Given the description of an element on the screen output the (x, y) to click on. 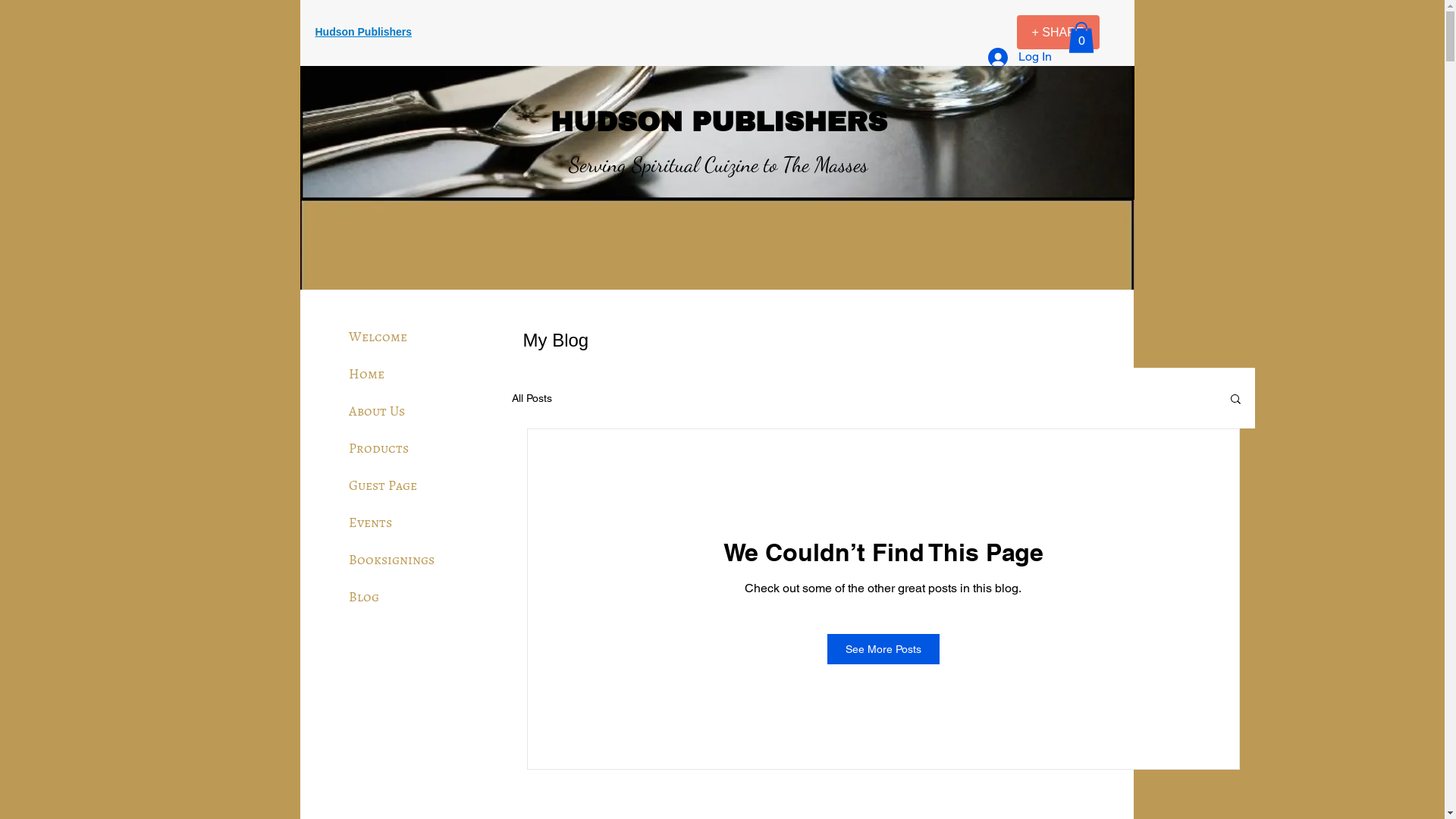
See More Posts Element type: text (882, 648)
Hudson Publishers Element type: text (363, 32)
Blog Element type: text (363, 596)
Log In Element type: text (1018, 57)
Events Element type: text (370, 522)
Guest Page Element type: text (382, 484)
Products Element type: text (378, 447)
About Us Element type: text (376, 410)
Home Element type: text (366, 373)
0 Element type: text (1080, 37)
All Posts Element type: text (531, 398)
Booksignings Element type: text (391, 559)
+ SHARE Element type: text (1057, 32)
Welcome Element type: text (377, 336)
